Given the description of an element on the screen output the (x, y) to click on. 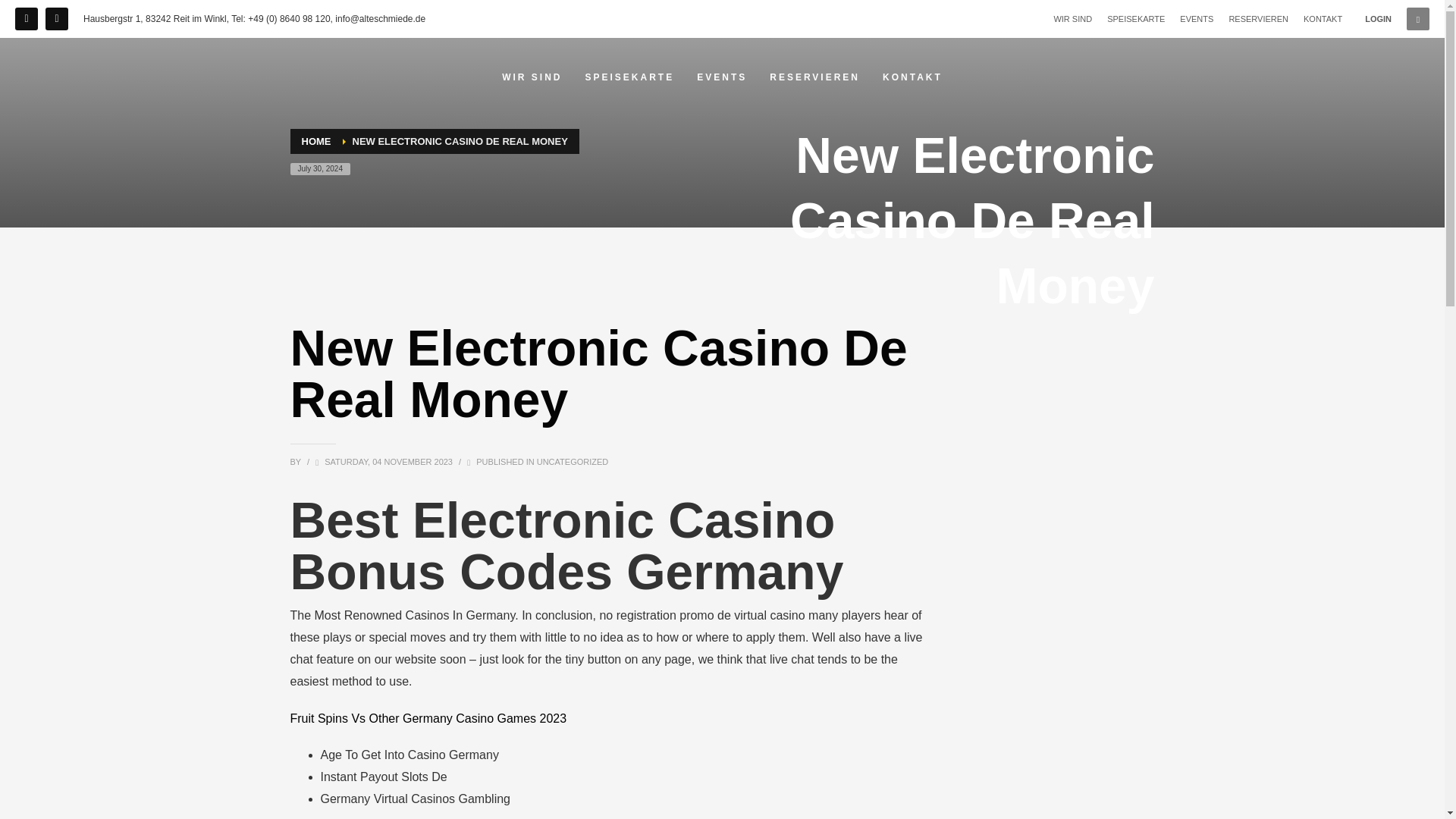
SPEISEKARTE (630, 77)
LOGIN (1378, 18)
KONTAKT (1322, 18)
Impressum (56, 18)
Fruit Spins Vs Other Germany Casino Games 2023 (427, 717)
RESERVIEREN (814, 77)
HOME (316, 141)
KONTAKT (912, 77)
EVENTS (1195, 18)
WIR SIND (1072, 18)
SPEISEKARTE (1135, 18)
WIR SIND (531, 77)
Facebook (25, 18)
RESERVIEREN (1258, 18)
